Given the description of an element on the screen output the (x, y) to click on. 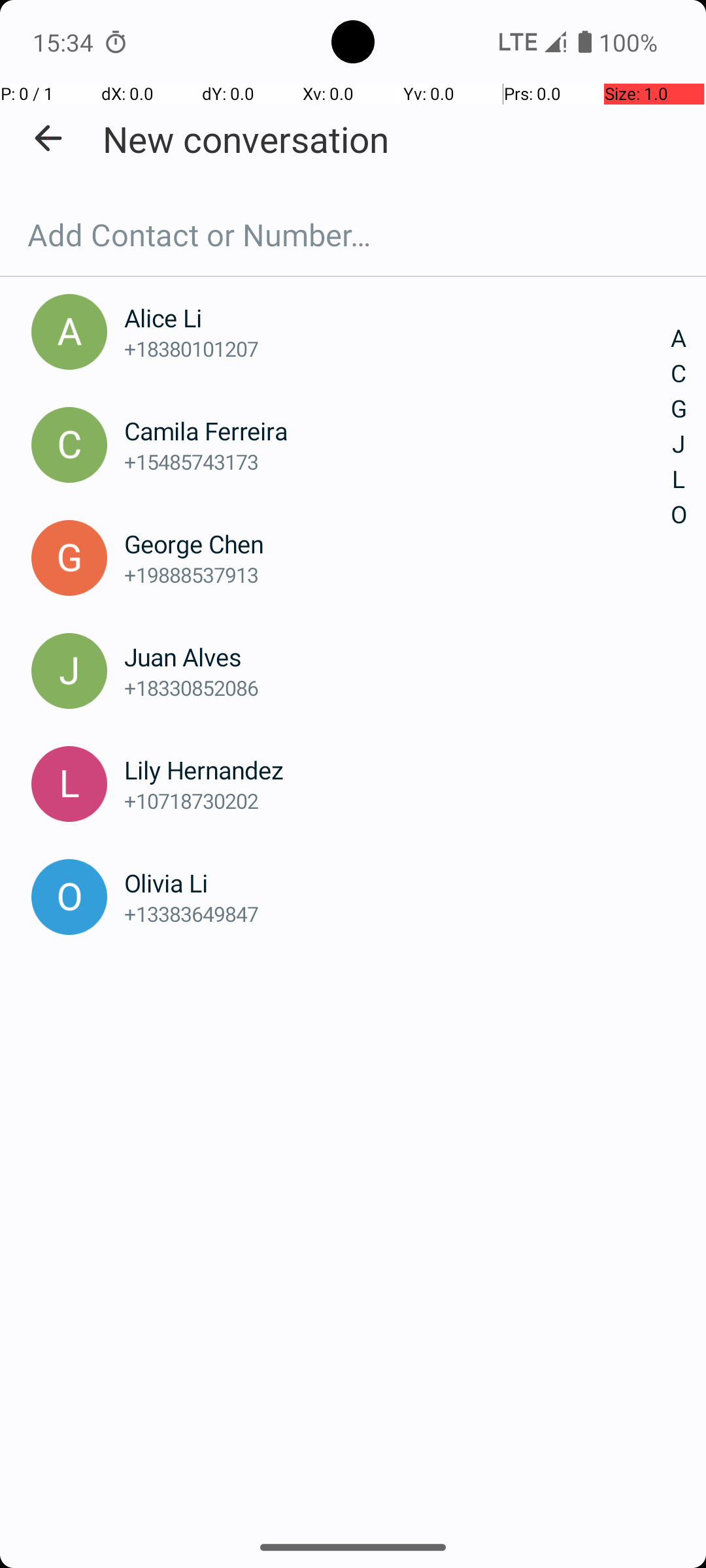
A
C
G
J
L
O Element type: android.widget.TextView (678, 426)
Alice Li Element type: android.widget.TextView (397, 317)
+18380101207 Element type: android.widget.TextView (397, 348)
Camila Ferreira Element type: android.widget.TextView (397, 430)
+15485743173 Element type: android.widget.TextView (397, 461)
George Chen Element type: android.widget.TextView (397, 543)
+19888537913 Element type: android.widget.TextView (397, 574)
Juan Alves Element type: android.widget.TextView (397, 656)
+18330852086 Element type: android.widget.TextView (397, 687)
Lily Hernandez Element type: android.widget.TextView (397, 769)
+10718730202 Element type: android.widget.TextView (397, 800)
Olivia Li Element type: android.widget.TextView (397, 882)
+13383649847 Element type: android.widget.TextView (397, 913)
